Given the description of an element on the screen output the (x, y) to click on. 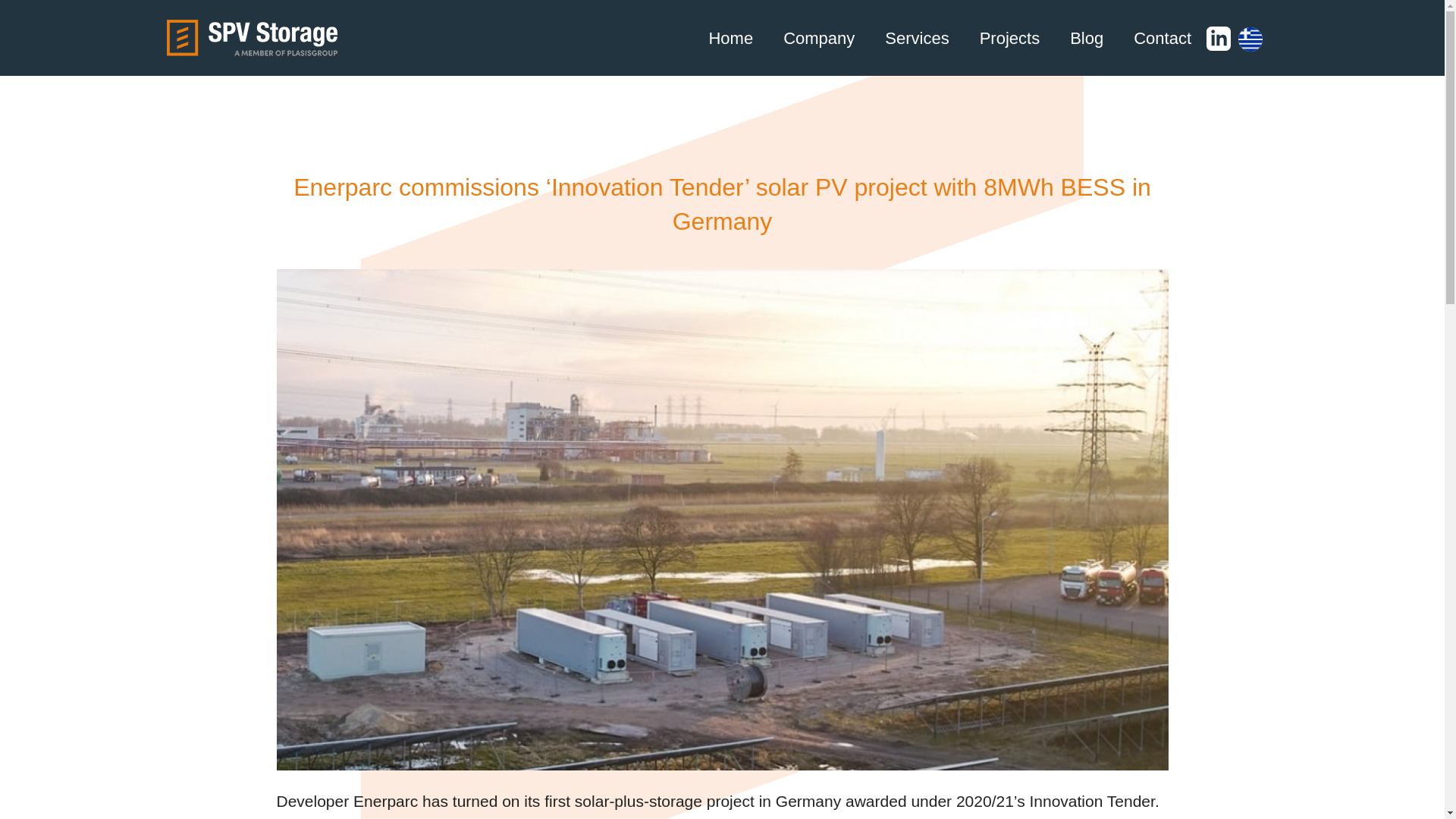
Home (730, 38)
Services (916, 38)
Contact (1162, 38)
Projects (1008, 38)
Company (818, 38)
Blog (1086, 38)
